Given the description of an element on the screen output the (x, y) to click on. 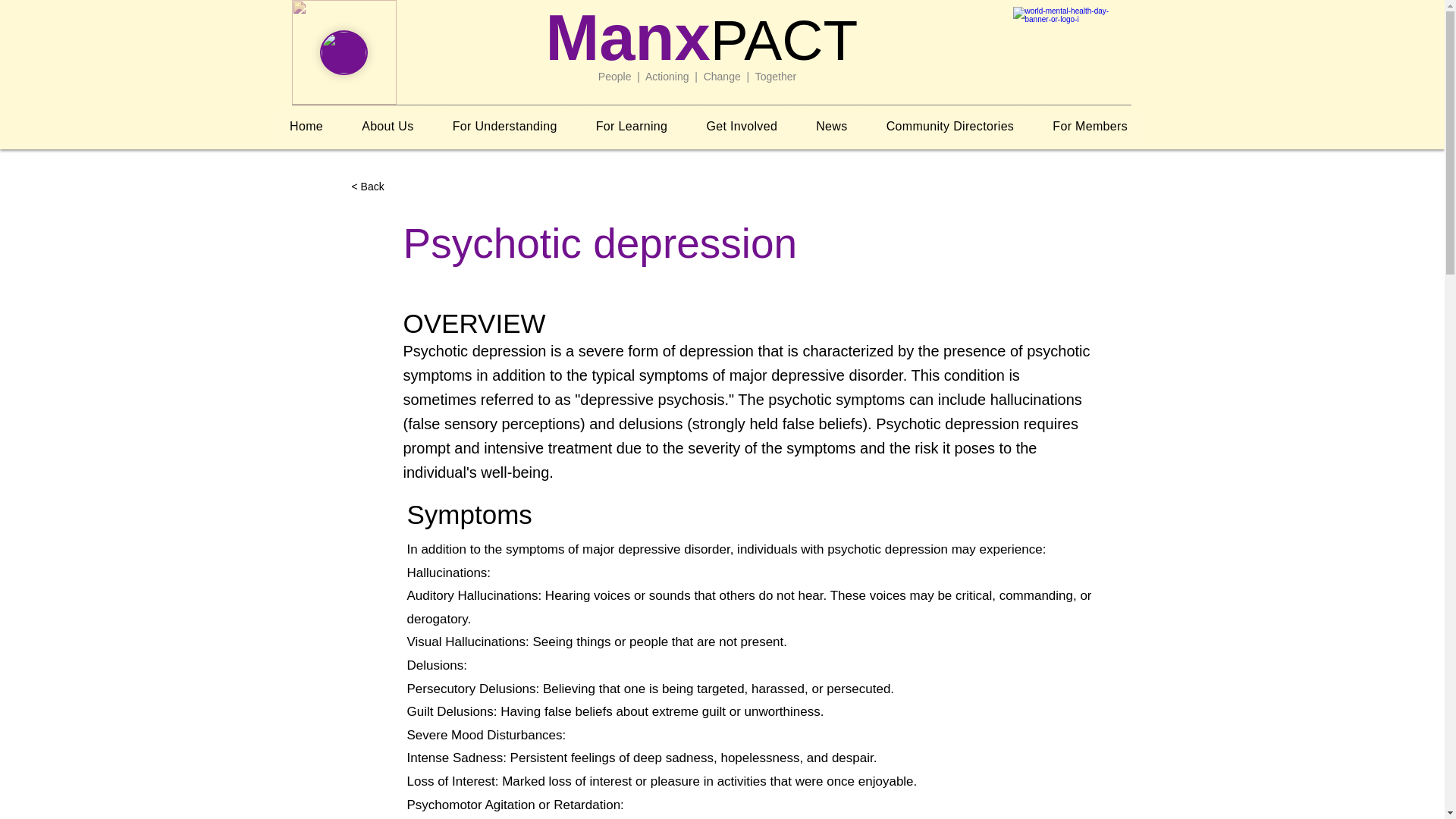
Home (306, 126)
world-mental-health-day-banner-or-logo-i (1067, 51)
